Given the description of an element on the screen output the (x, y) to click on. 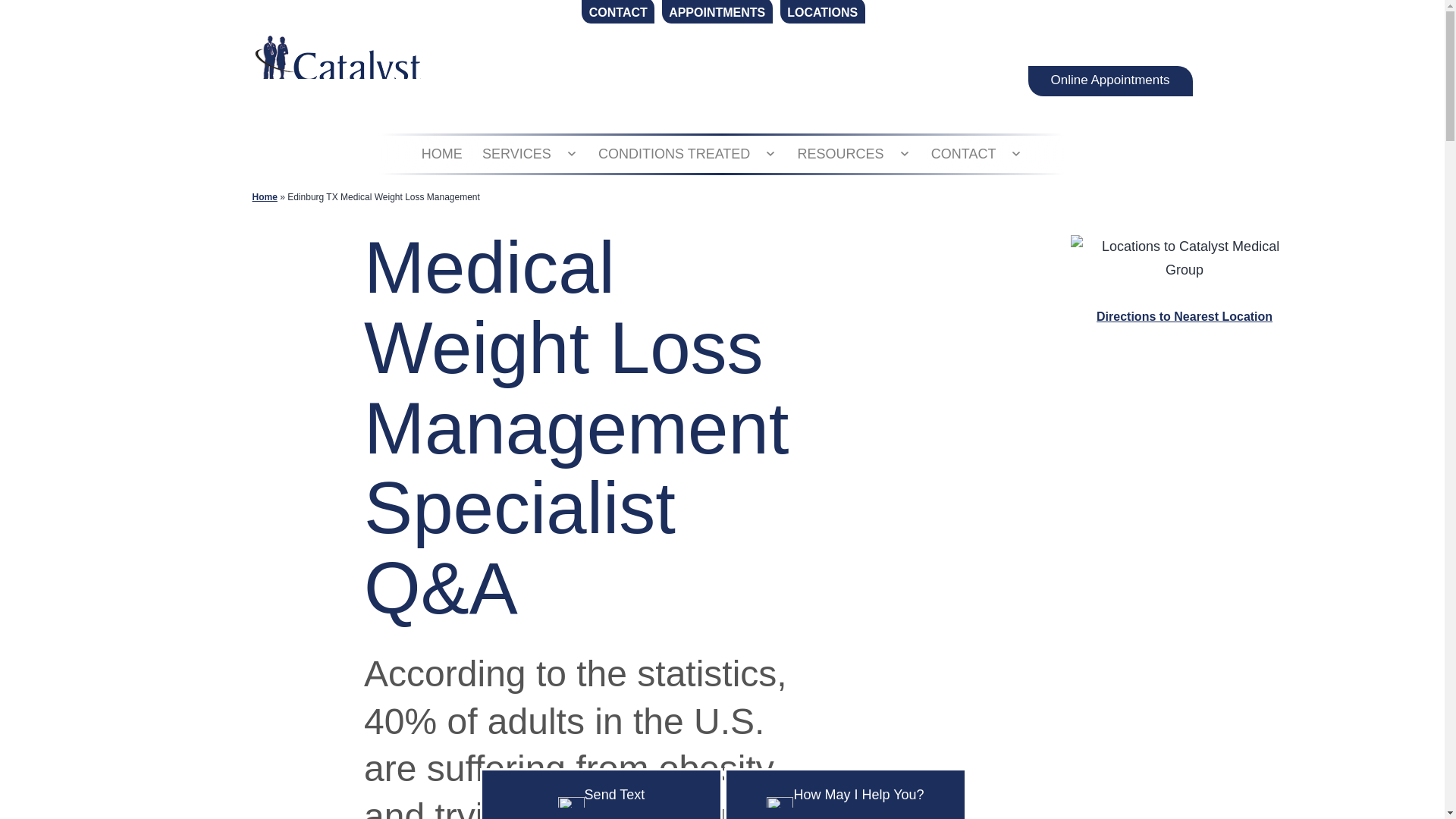
Open menu (571, 153)
CONTACT (617, 11)
APPOINTMENTS (717, 11)
CONDITIONS TREATED (674, 153)
Open menu (1015, 153)
HOME (441, 153)
Open menu (770, 153)
SERVICES (515, 153)
LOCATIONS (822, 11)
RESOURCES (840, 153)
